Given the description of an element on the screen output the (x, y) to click on. 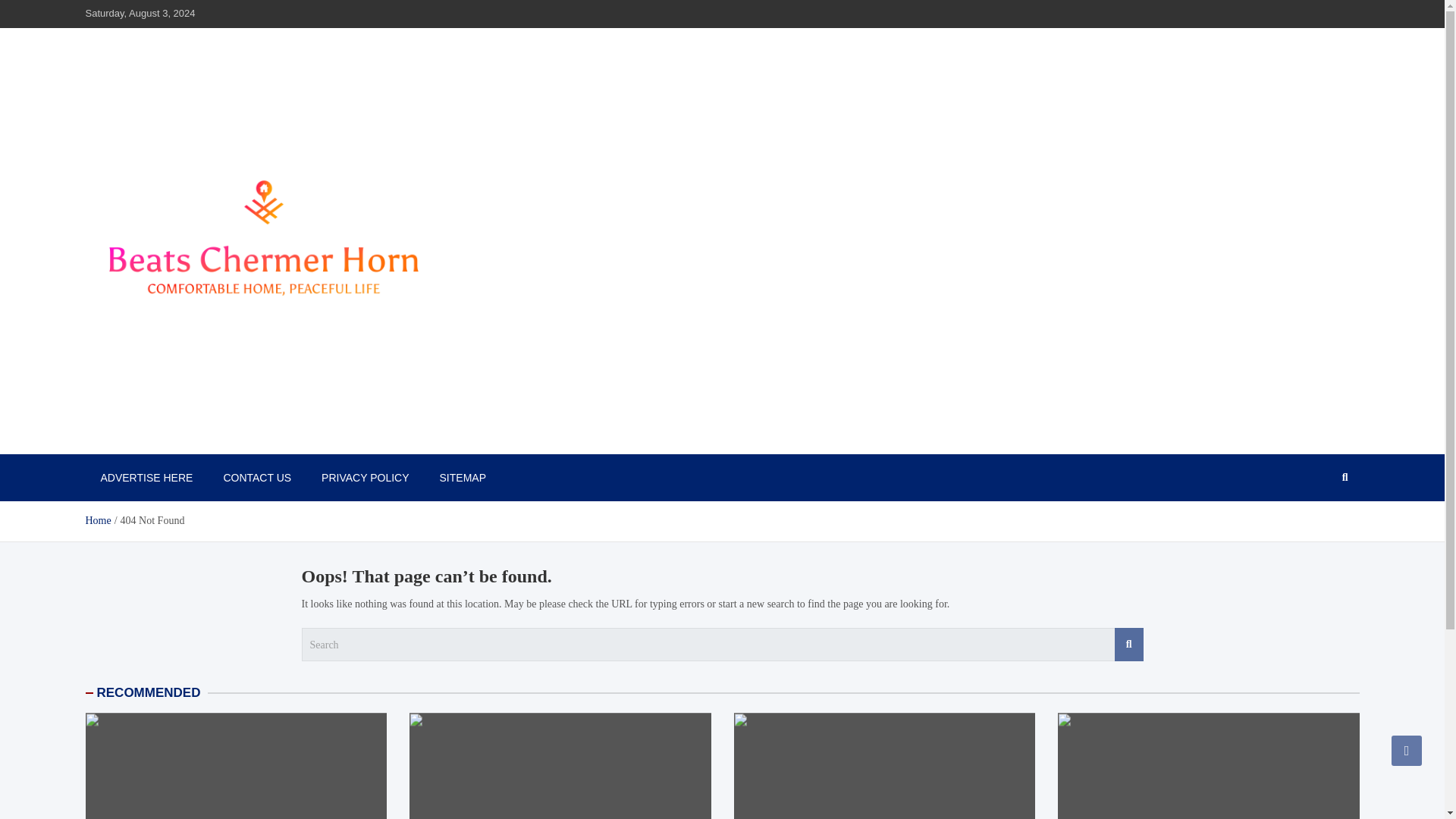
CONTACT US (256, 477)
SITEMAP (462, 477)
RECOMMENDED (148, 692)
PRIVACY POLICY (364, 477)
Beats Chermer Horn (193, 437)
Go to Top (1406, 750)
ADVERTISE HERE (146, 477)
Home (97, 520)
